Given the description of an element on the screen output the (x, y) to click on. 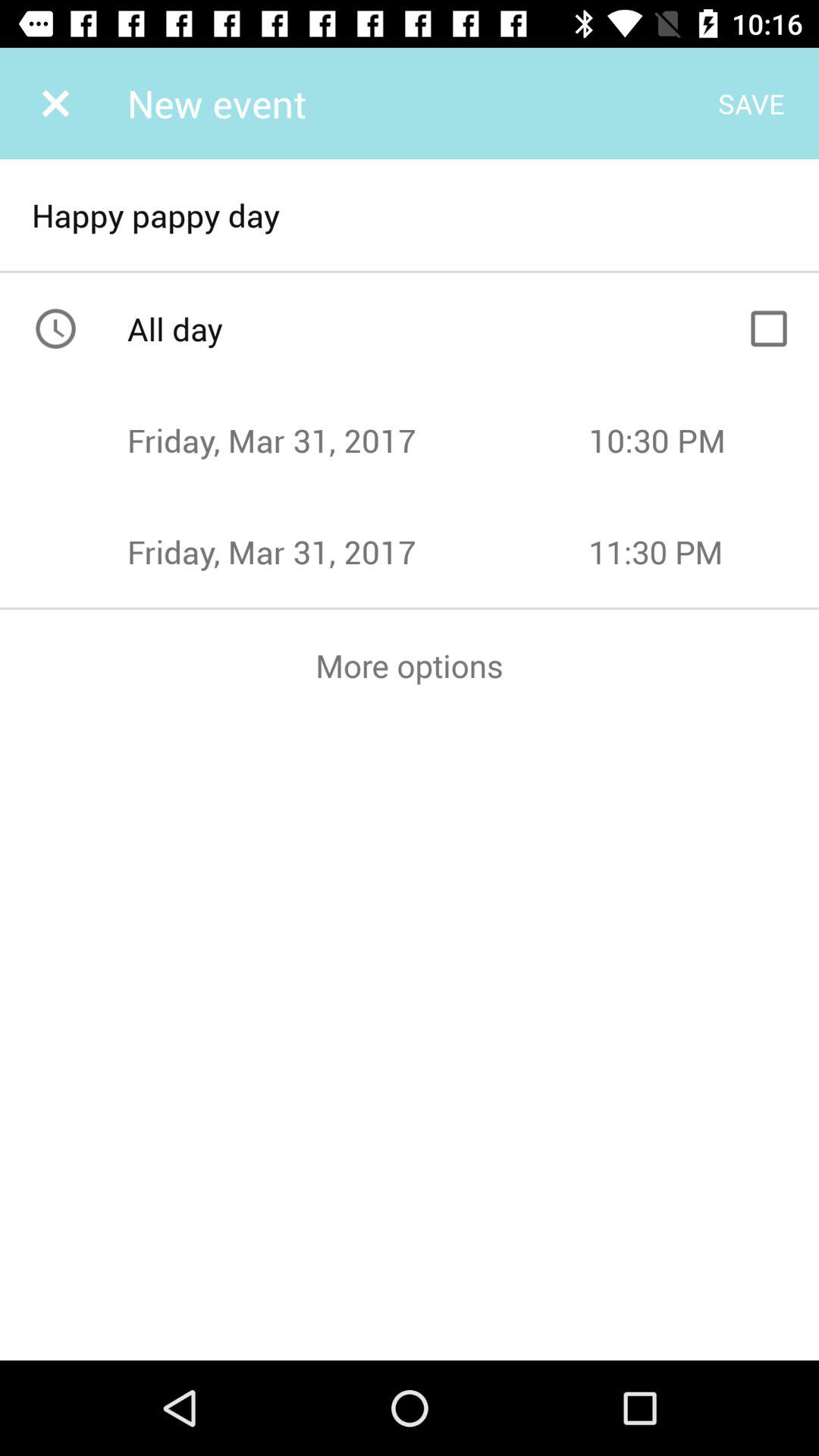
check this section (768, 328)
